Given the description of an element on the screen output the (x, y) to click on. 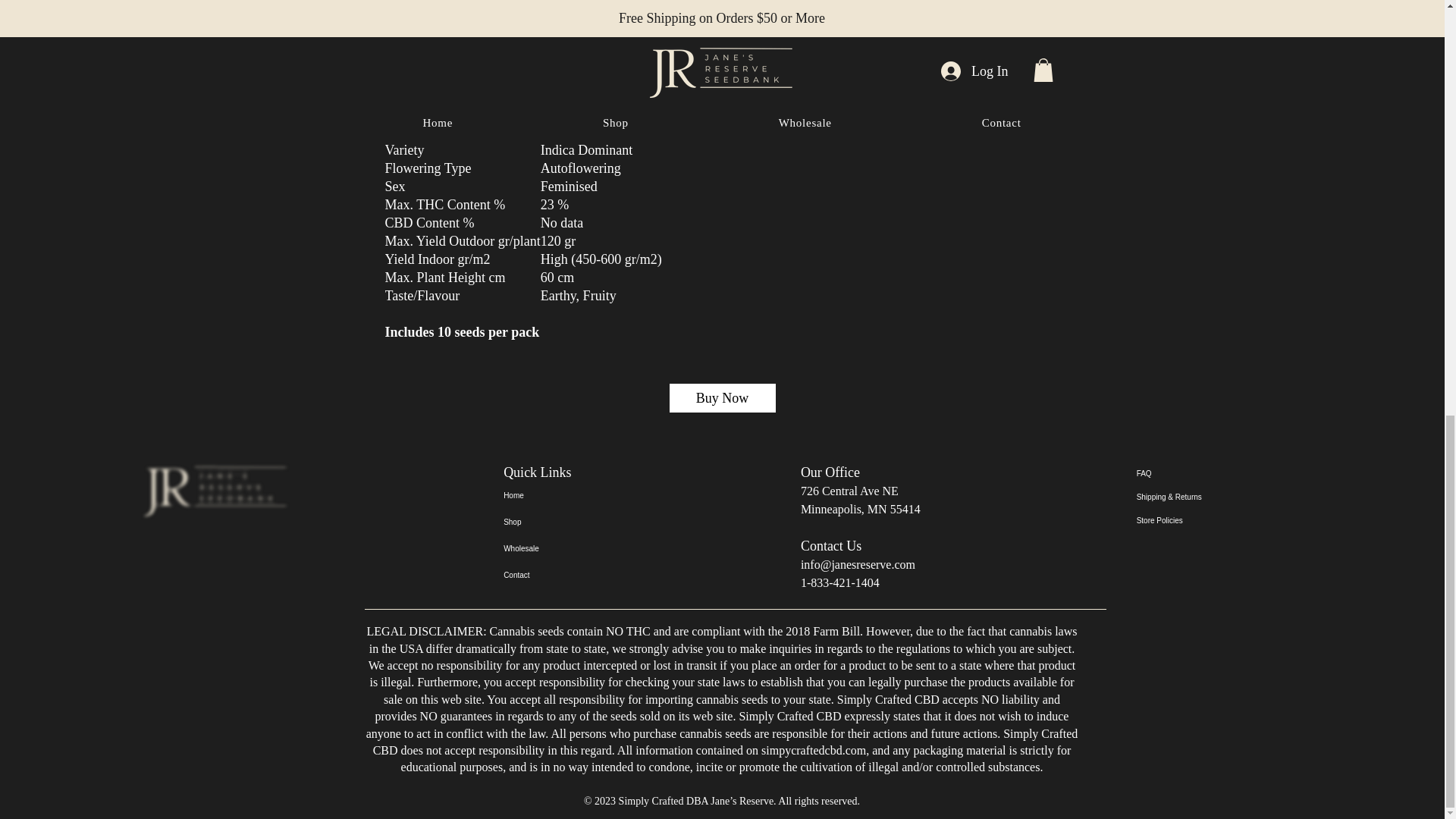
Home (556, 495)
1-833-421-1404 (839, 582)
Store Policies (1190, 520)
Shop (556, 521)
FAQ (1190, 473)
Contact (556, 574)
Wholesale (556, 548)
Buy Now (722, 398)
